Given the description of an element on the screen output the (x, y) to click on. 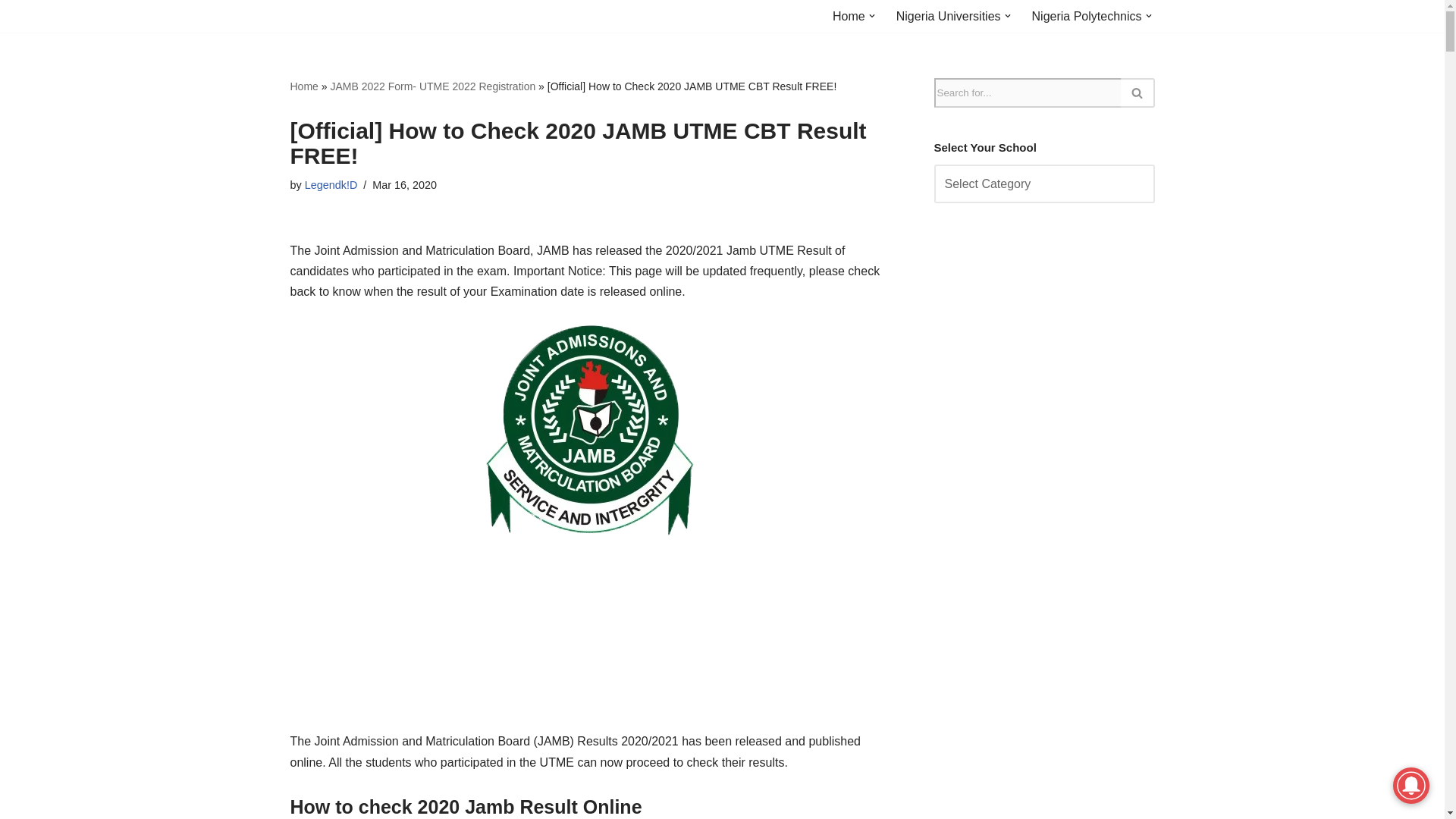
Nigeria Universities (948, 15)
Skip to content (11, 31)
How to check 2020 Jamb Result Online (588, 429)
Posts by Legendk!D (331, 184)
Nigeria Polytechnics (1086, 15)
Home (848, 15)
